Given the description of an element on the screen output the (x, y) to click on. 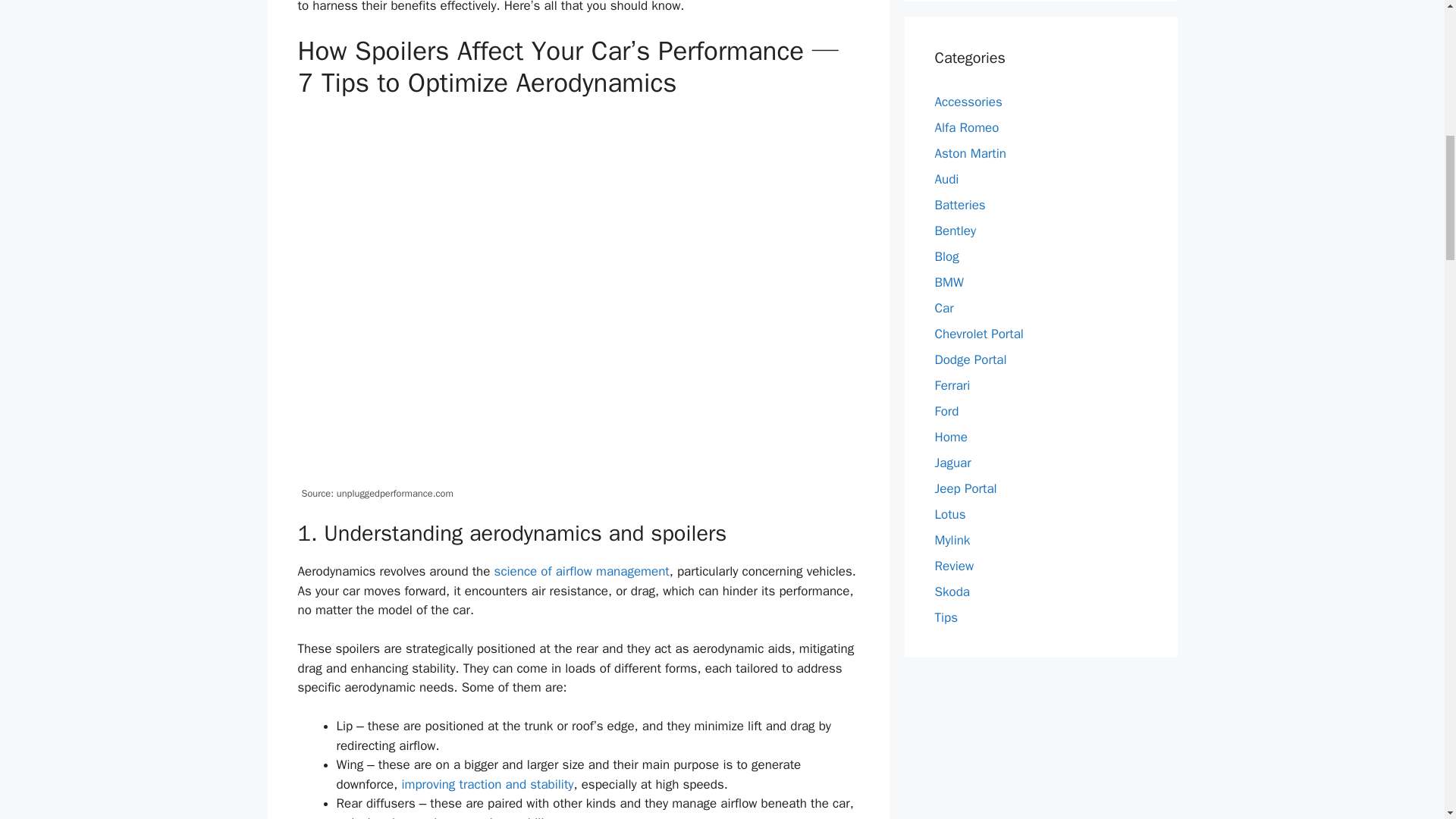
science of airflow management (582, 571)
improving traction and stability (487, 784)
Accessories (967, 101)
